Given the description of an element on the screen output the (x, y) to click on. 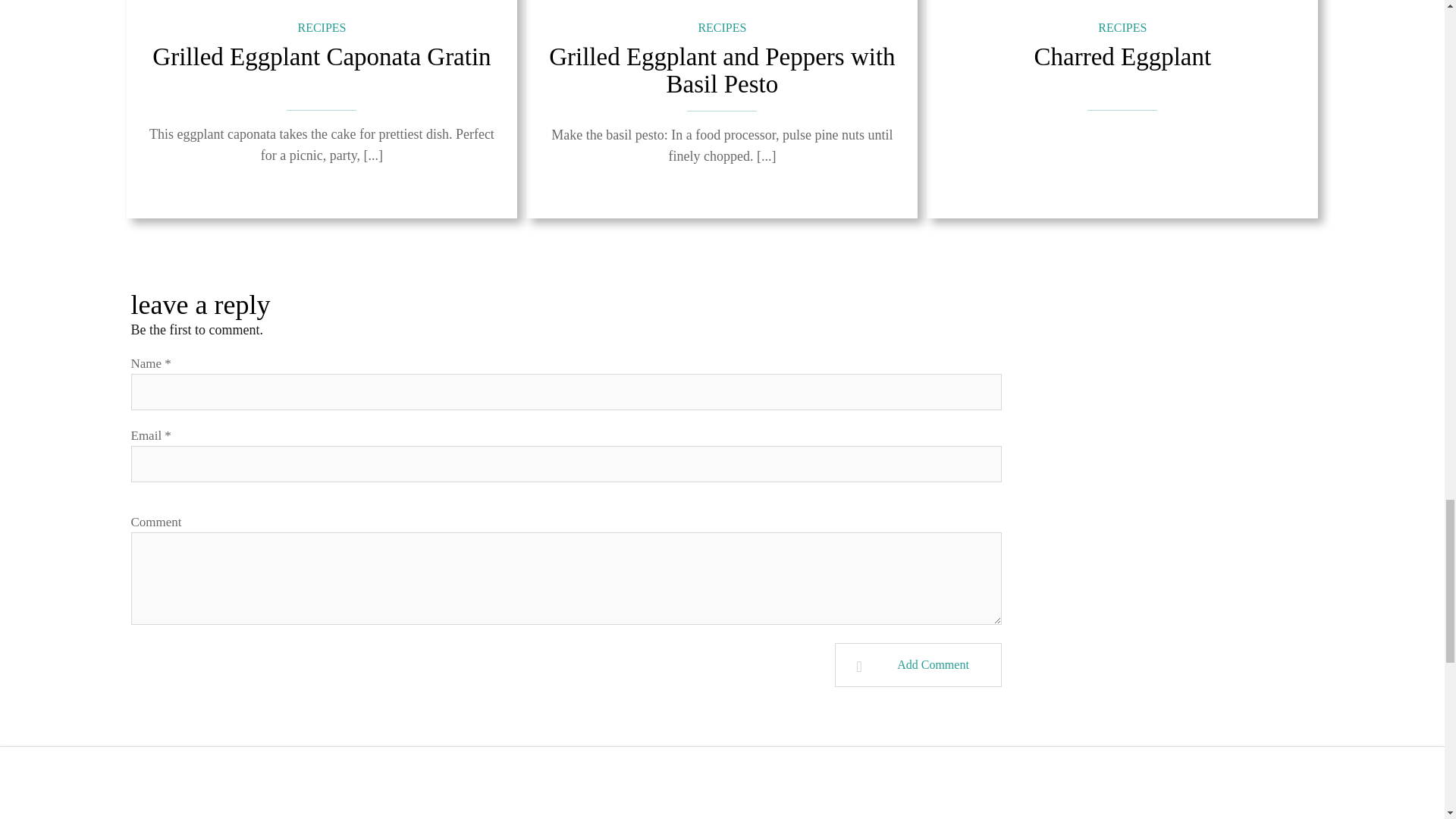
Add Comment (918, 664)
